Given the description of an element on the screen output the (x, y) to click on. 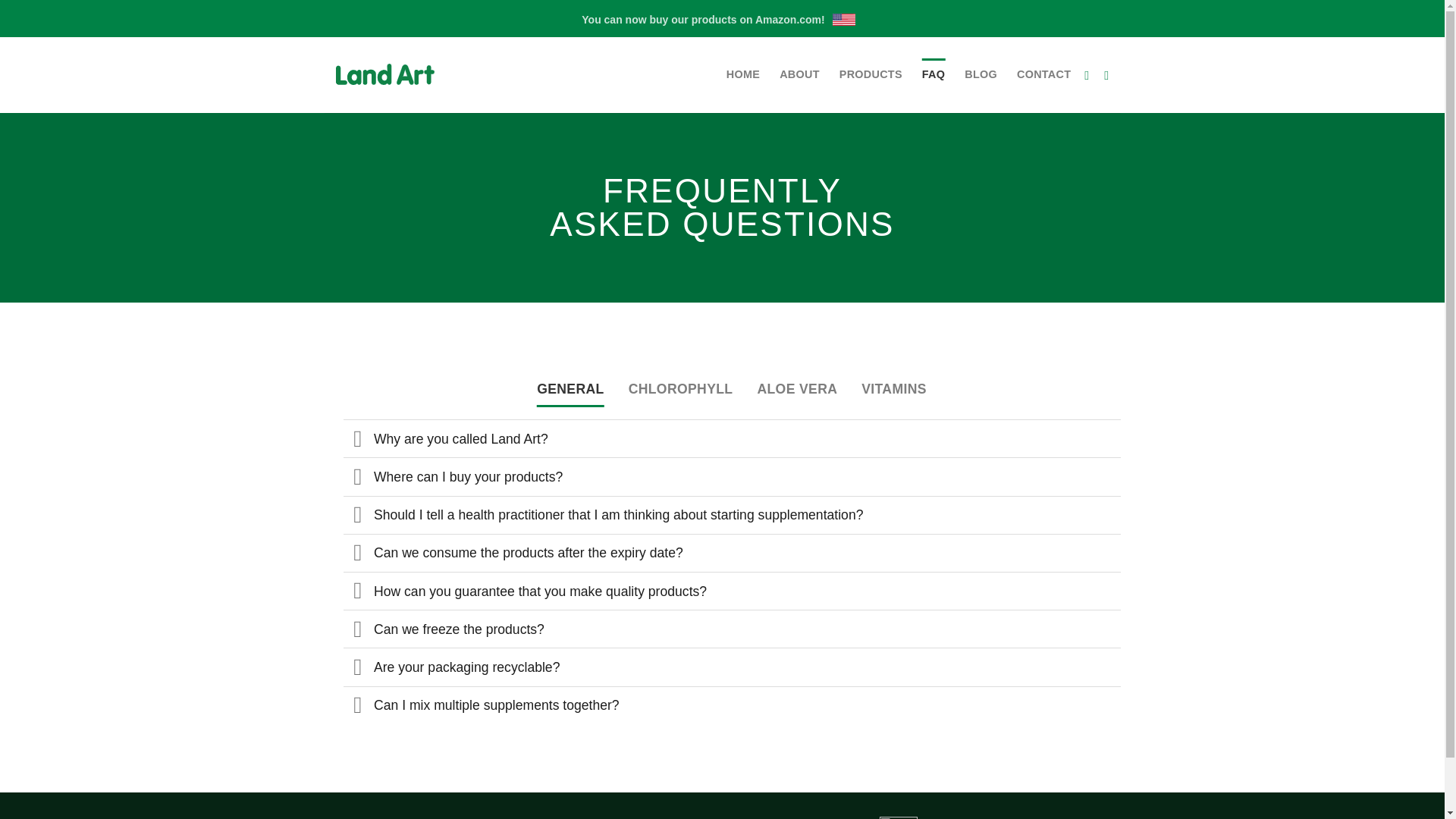
HOME (743, 74)
VITAMINS (893, 389)
ALOE VERA (797, 389)
Can we freeze the products? (730, 628)
Land Art (400, 74)
Are your packaging recyclable? (730, 666)
CHLOROPHYLL (680, 389)
ABOUT (798, 74)
Follow on Instagram (1109, 74)
